Given the description of an element on the screen output the (x, y) to click on. 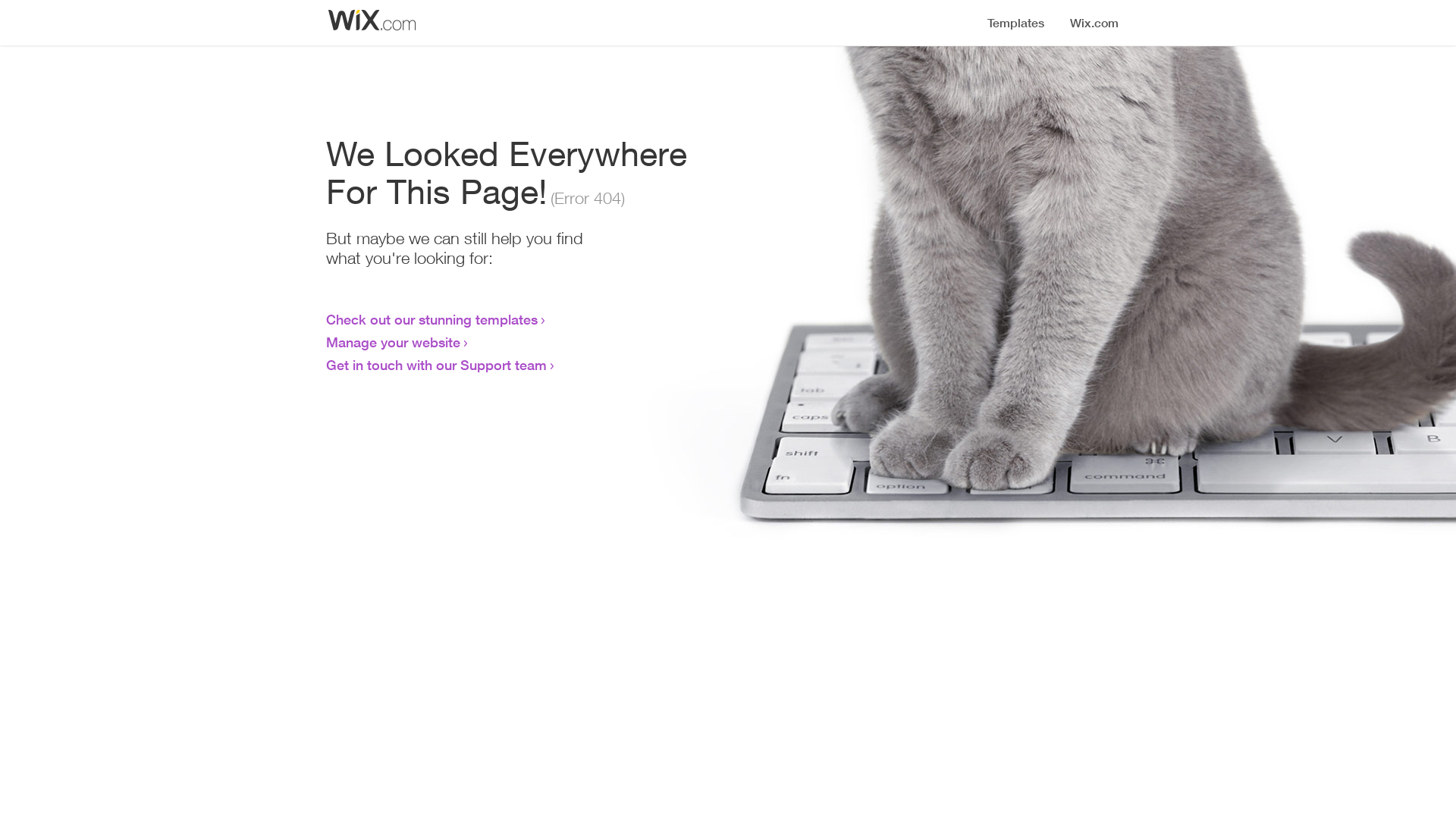
Manage your website Element type: text (393, 341)
Get in touch with our Support team Element type: text (436, 364)
Check out our stunning templates Element type: text (431, 318)
